Given the description of an element on the screen output the (x, y) to click on. 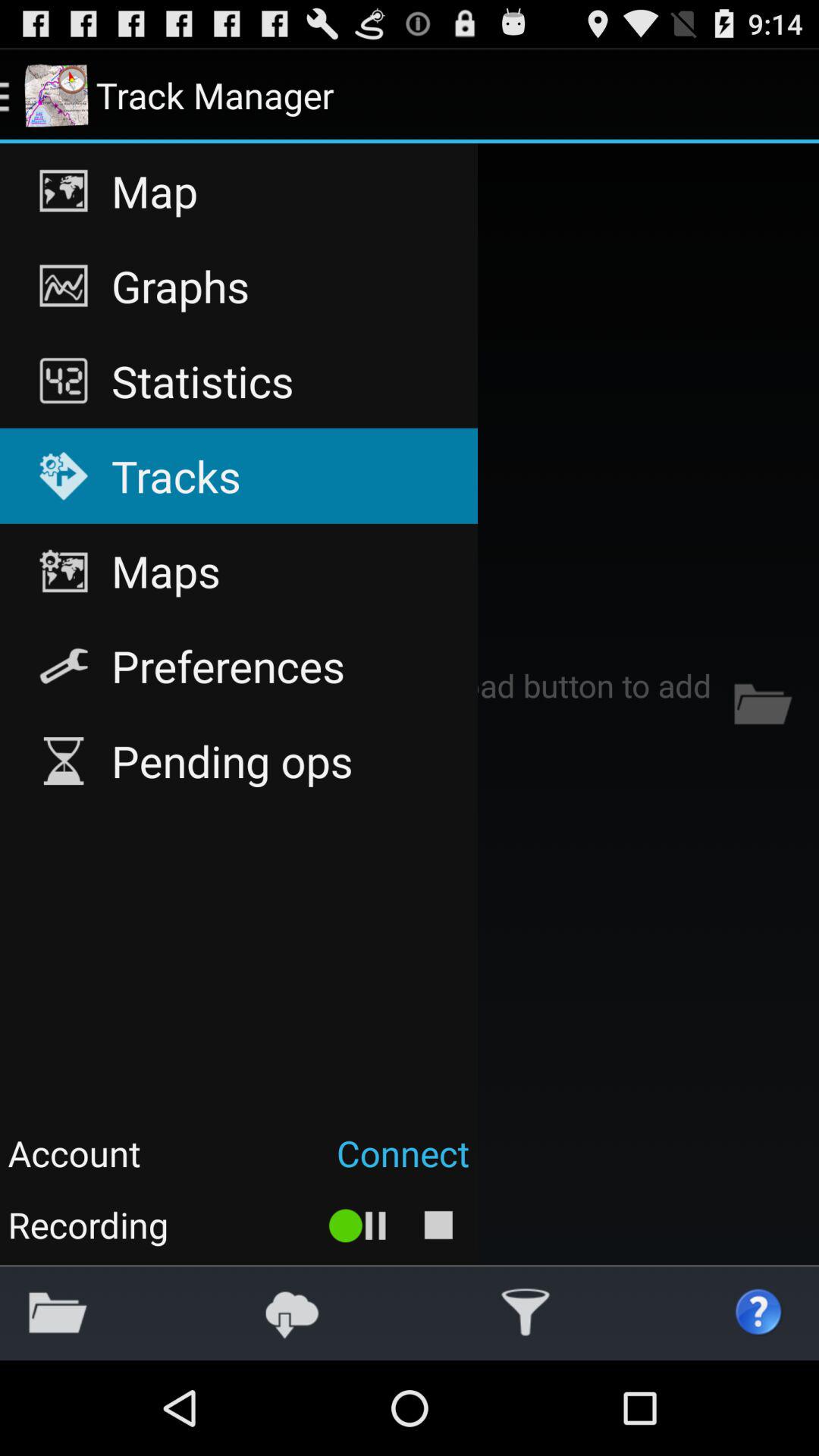
swipe to statistics item (238, 380)
